Given the description of an element on the screen output the (x, y) to click on. 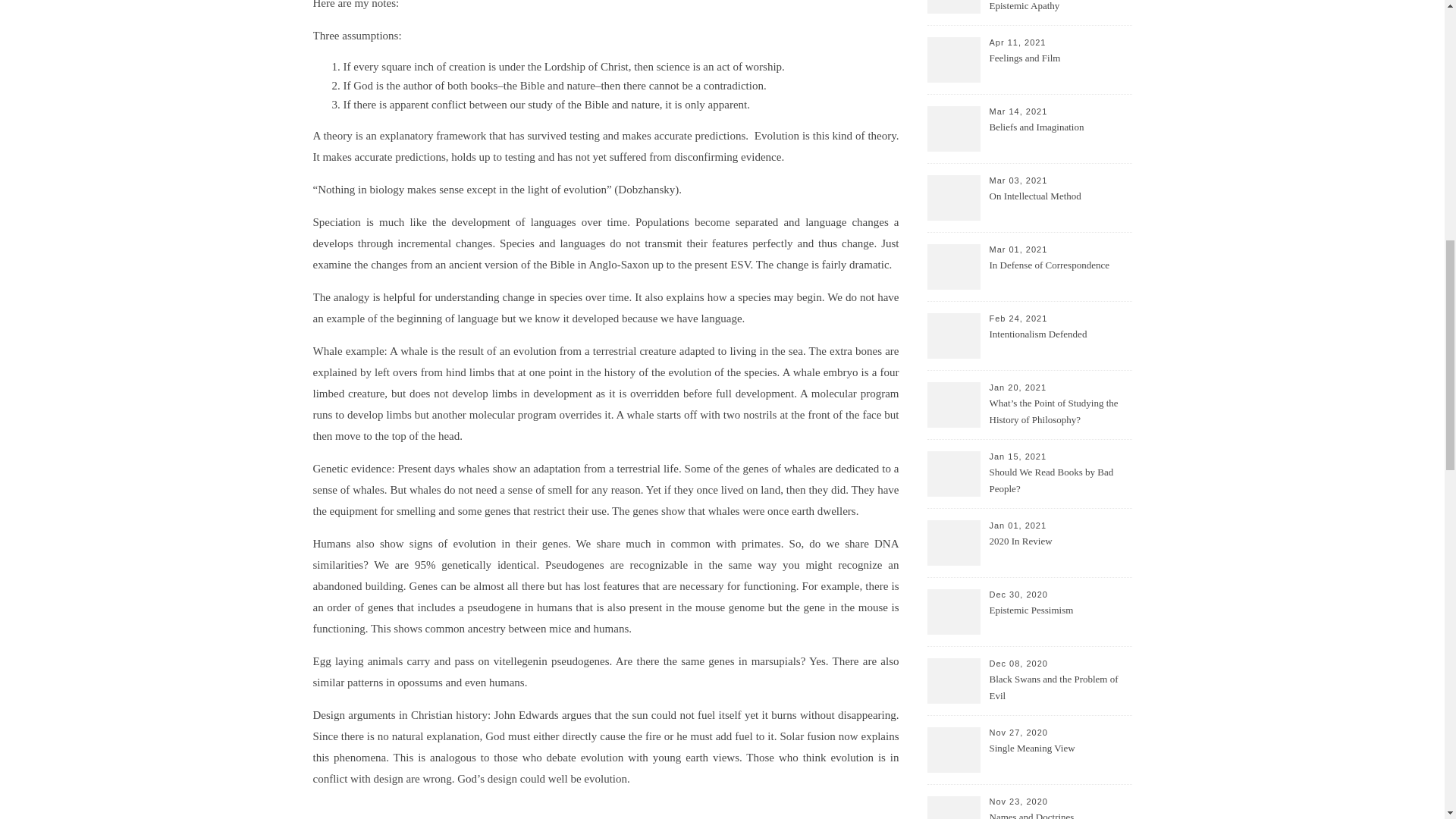
Feelings and Film (1058, 67)
Not Ready to Quit: Combatting Epistemic Apathy (1058, 7)
Ben Holloway (360, 817)
Beliefs and Imagination (1058, 135)
Posts by Ben Holloway (360, 817)
